Given the description of an element on the screen output the (x, y) to click on. 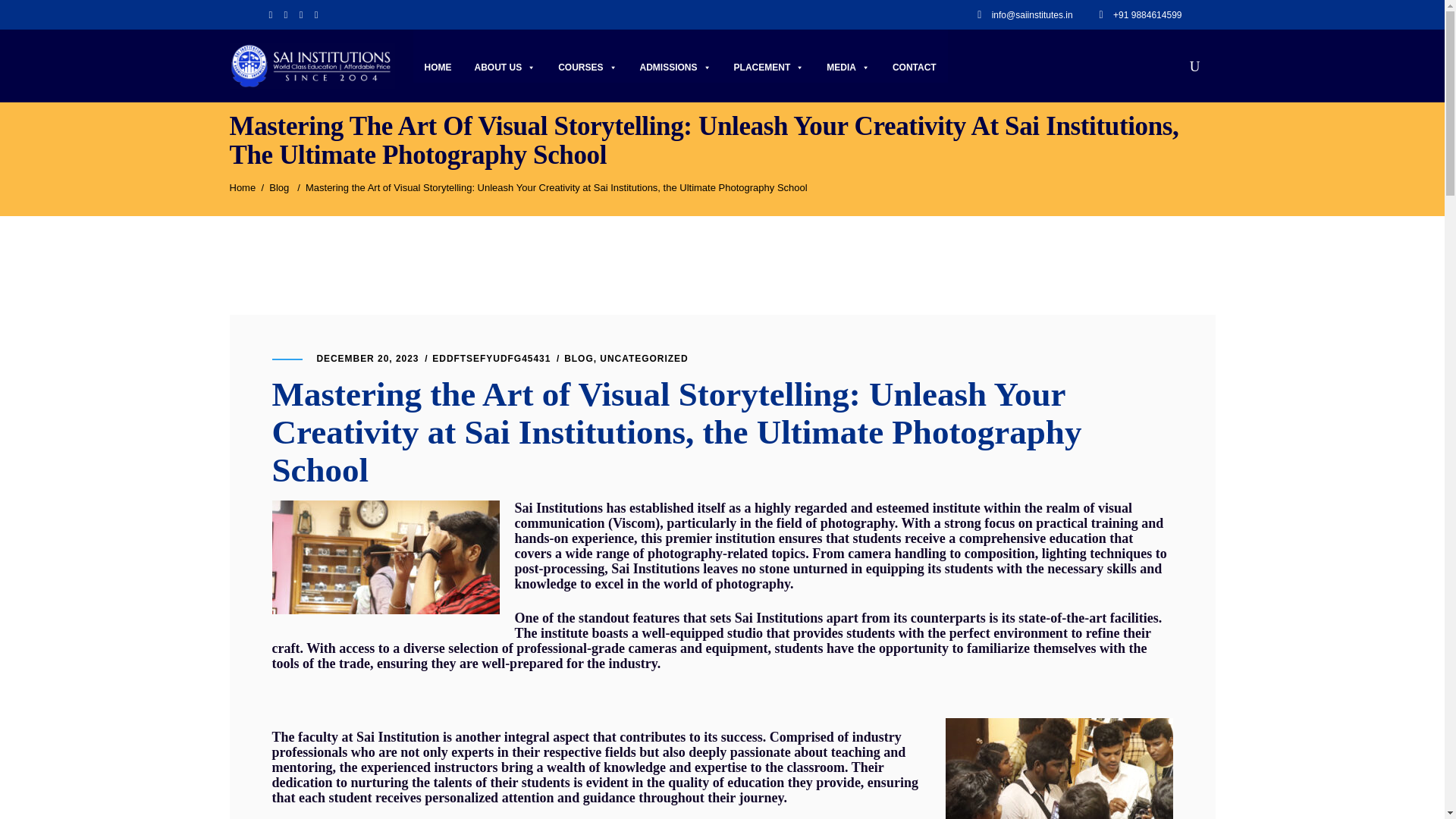
HOME (438, 67)
COURSES (587, 67)
ABOUT US (505, 67)
ADMISSIONS (675, 67)
PLACEMENT (768, 67)
